Given the description of an element on the screen output the (x, y) to click on. 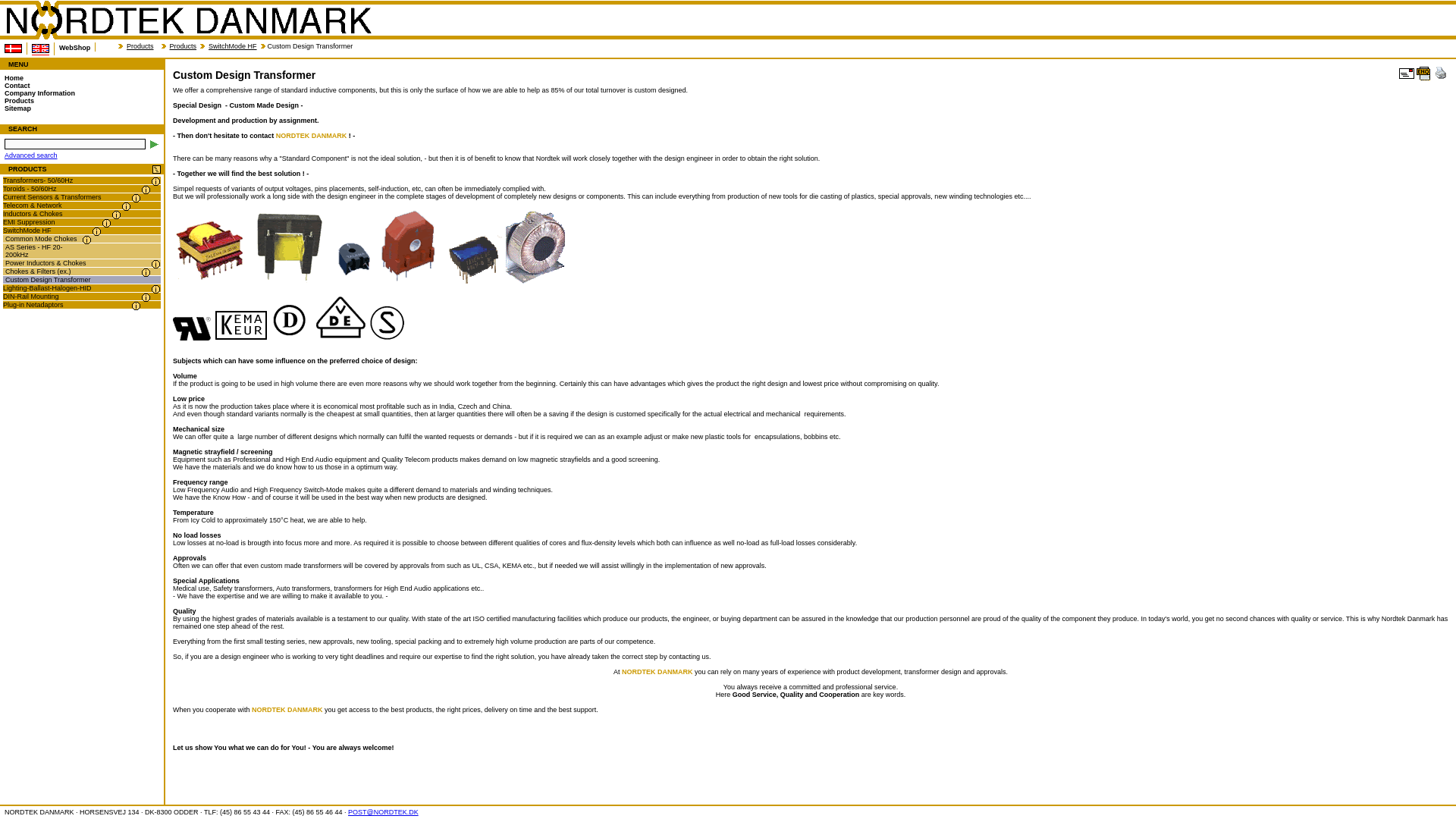
SwitchMode HF (232, 45)
Products (140, 45)
Home (81, 77)
Products (81, 100)
Danish (12, 48)
NORDTEK DANMARK - Custom Design Transformer - nordtek.dk (187, 20)
search (153, 144)
Advanced search (31, 154)
Sitemap (81, 108)
Company Information (81, 93)
Contact (81, 85)
WebShop (74, 46)
Products (183, 45)
English (40, 48)
